Given the description of an element on the screen output the (x, y) to click on. 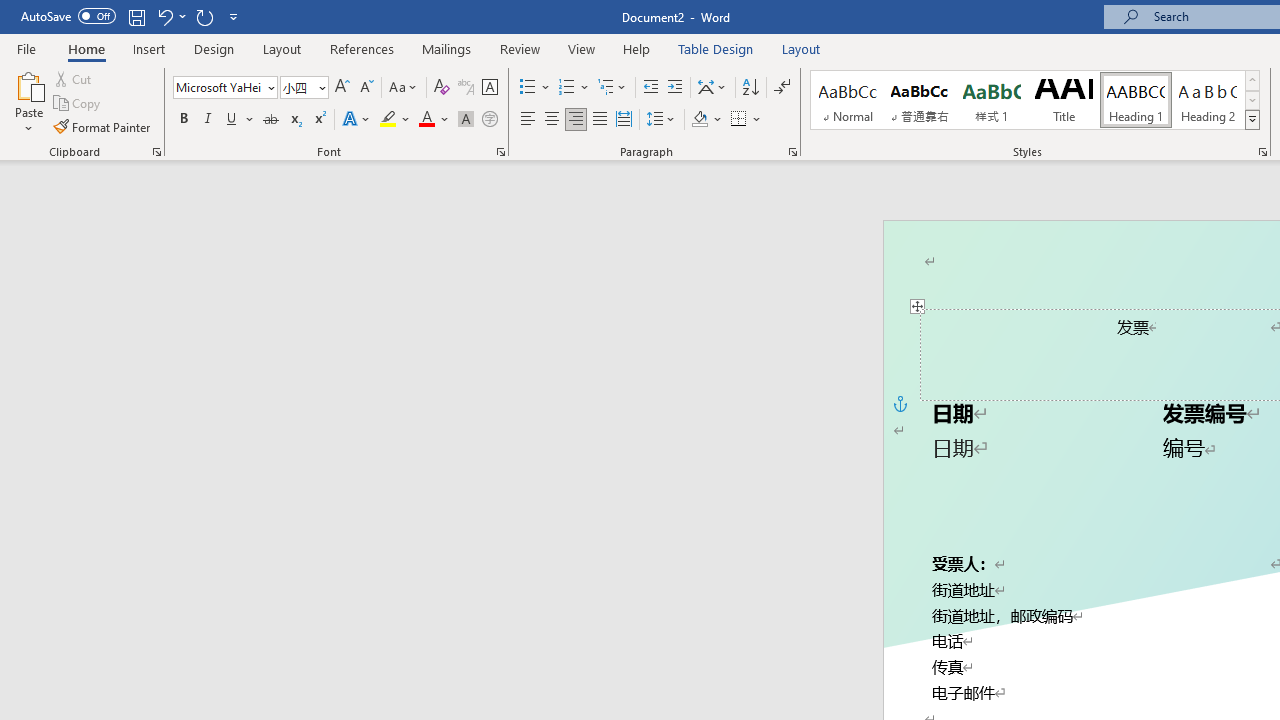
Character Border (489, 87)
Office Clipboard... (156, 151)
Align Right (575, 119)
Strikethrough (270, 119)
Phonetic Guide... (465, 87)
Grow Font (342, 87)
Font Color (434, 119)
Multilevel List (613, 87)
Cut (73, 78)
Paragraph... (792, 151)
Text Effects and Typography (357, 119)
Clear Formatting (442, 87)
